Given the description of an element on the screen output the (x, y) to click on. 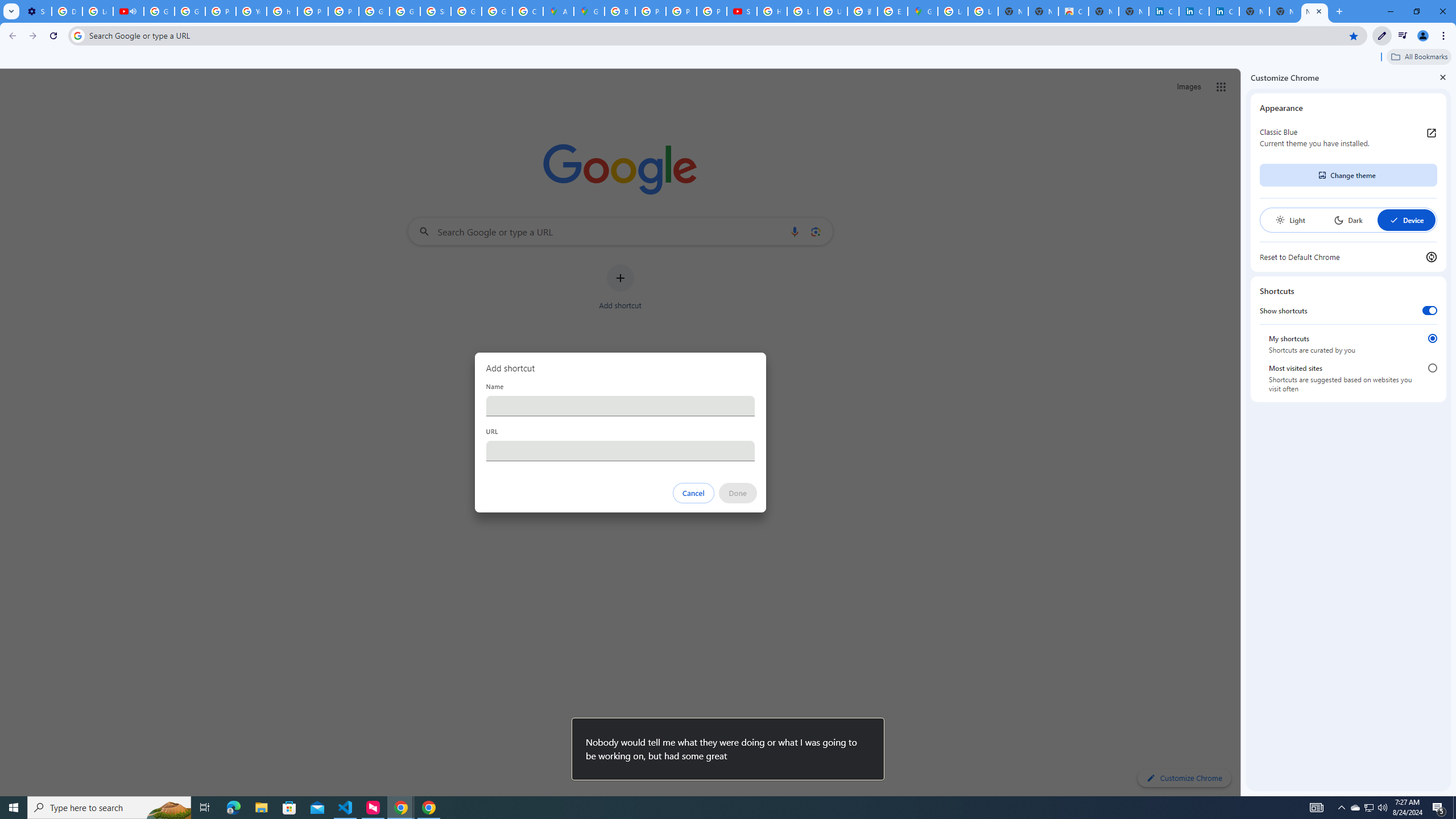
Show shortcuts (1429, 310)
Delete photos & videos - Computer - Google Photos Help (66, 11)
New Tab (1314, 11)
Most visited sites (1432, 367)
https://scholar.google.com/ (282, 11)
Privacy Help Center - Policies Help (220, 11)
Cookie Policy | LinkedIn (1163, 11)
Blogger Policies and Guidelines - Transparency Center (619, 11)
Mute tab (133, 10)
